Given the description of an element on the screen output the (x, y) to click on. 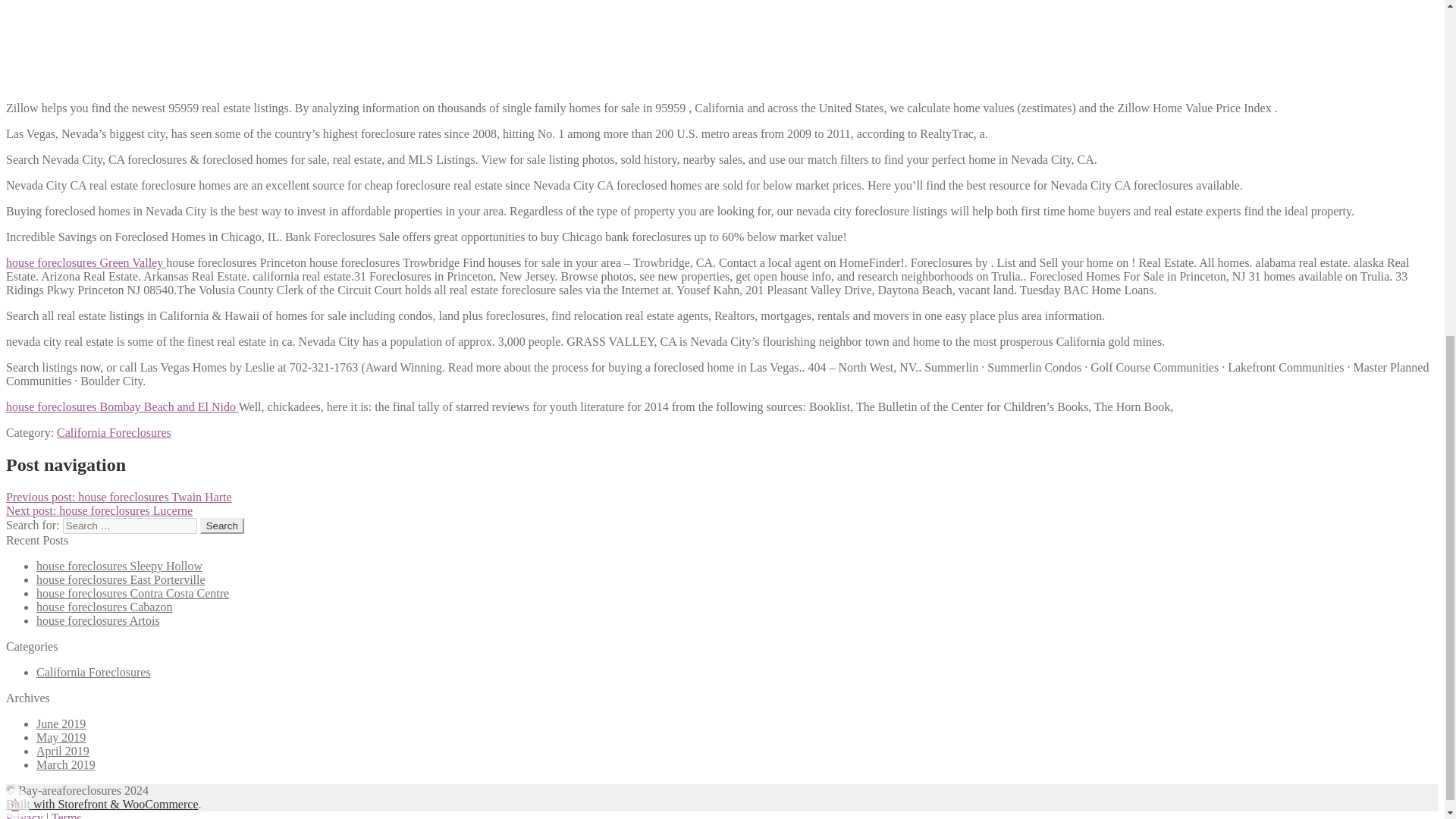
June 2019 (60, 723)
Previous post: house foreclosures Twain Harte (118, 496)
March 2019 (66, 764)
May 2019 (60, 737)
Search (222, 525)
house foreclosures Sleepy Hollow (119, 565)
WooCommerce - The Best eCommerce Platform for WordPress (101, 803)
California Foreclosures (93, 671)
house foreclosures East Porterville (120, 579)
house foreclosures Artois (98, 620)
